Given the description of an element on the screen output the (x, y) to click on. 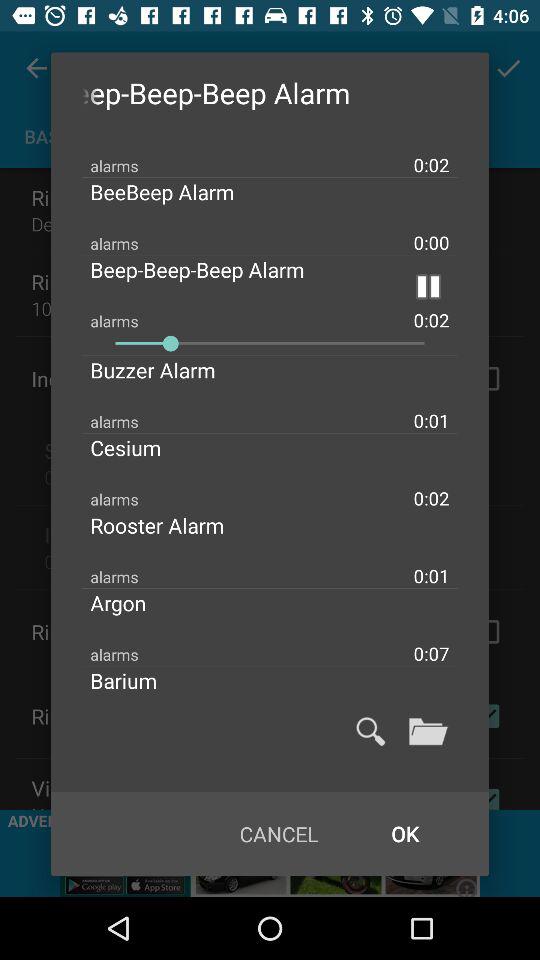
jump until barium item (140, 680)
